Given the description of an element on the screen output the (x, y) to click on. 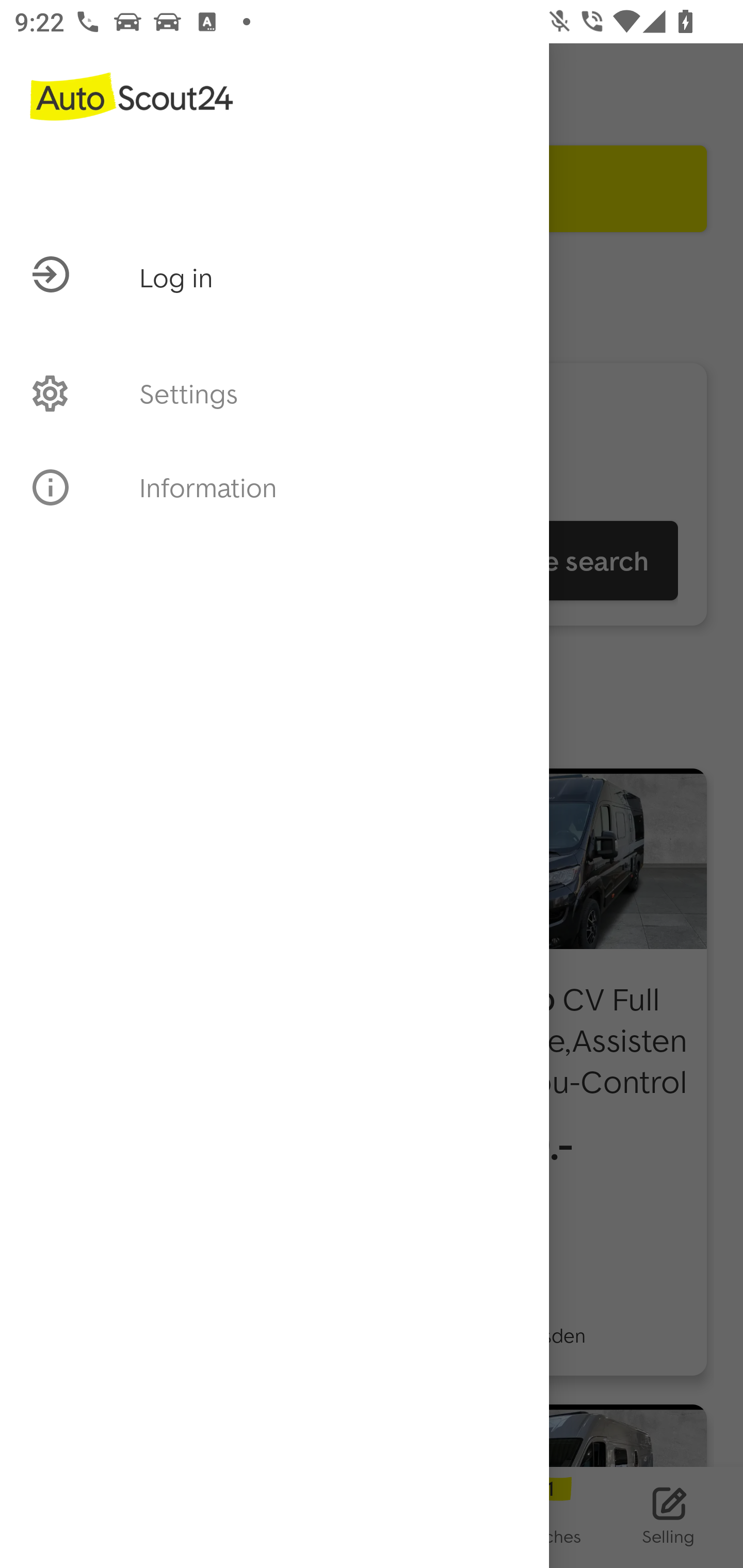
PROFILE Settings (274, 393)
INFO Information (274, 487)
